Given the description of an element on the screen output the (x, y) to click on. 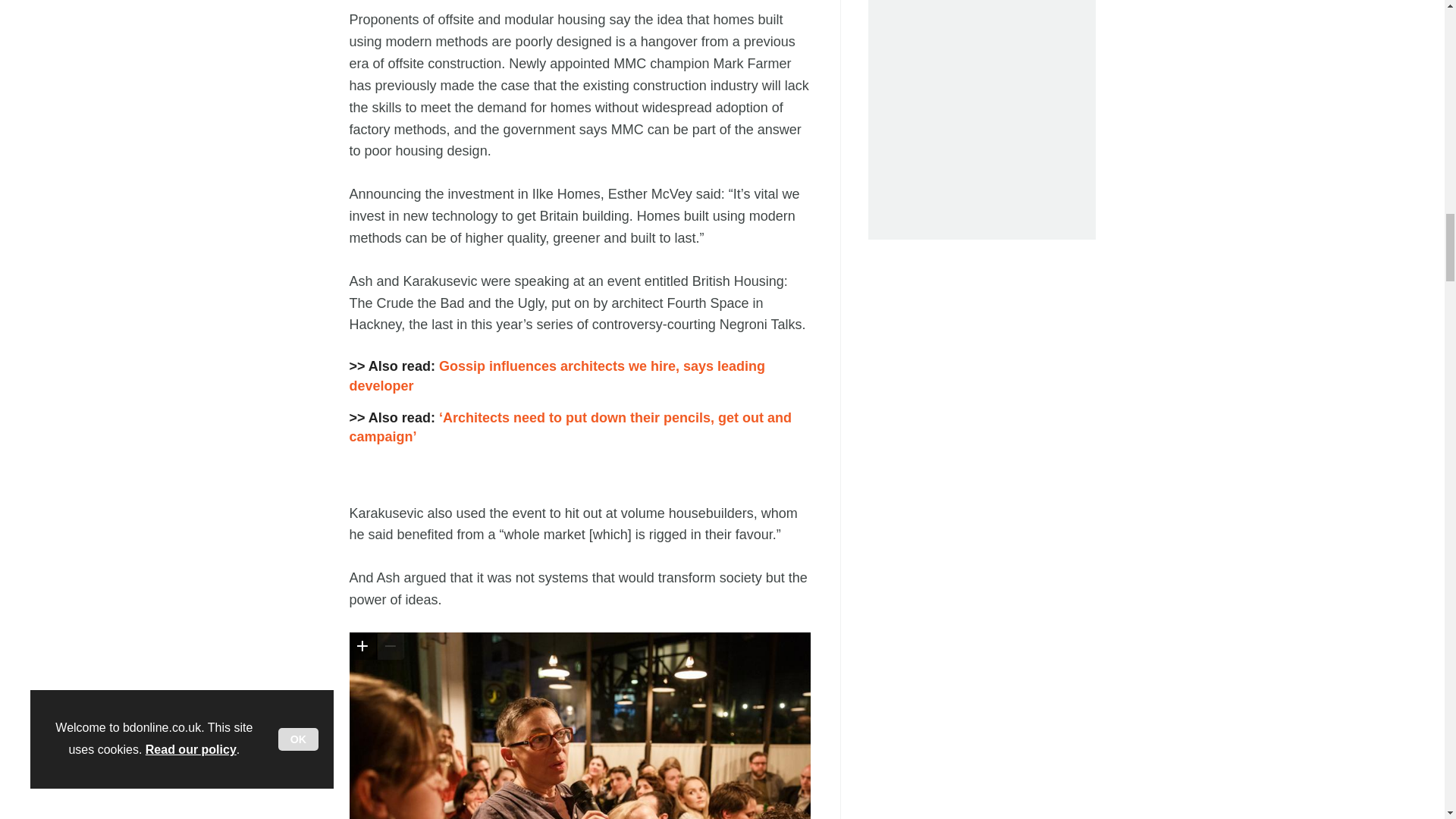
3rd party ad content (985, 106)
